Given the description of an element on the screen output the (x, y) to click on. 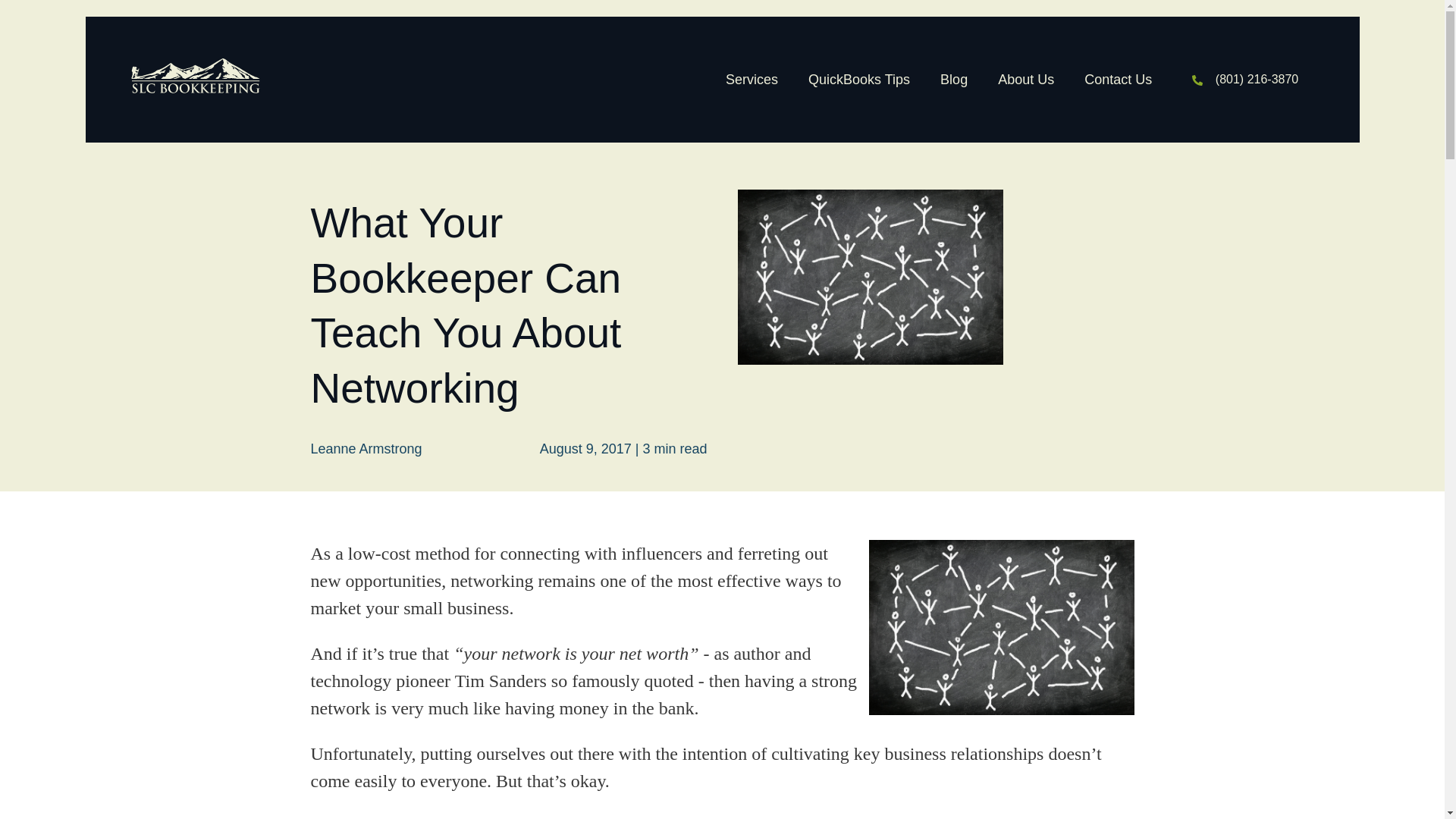
QuickBooks Tips (858, 79)
Services (751, 79)
Contact Us (1117, 79)
About Us (1025, 79)
What Your Bookkeeper Can Teach You About Networking (1001, 626)
logo (195, 75)
Blog (953, 79)
